Given the description of an element on the screen output the (x, y) to click on. 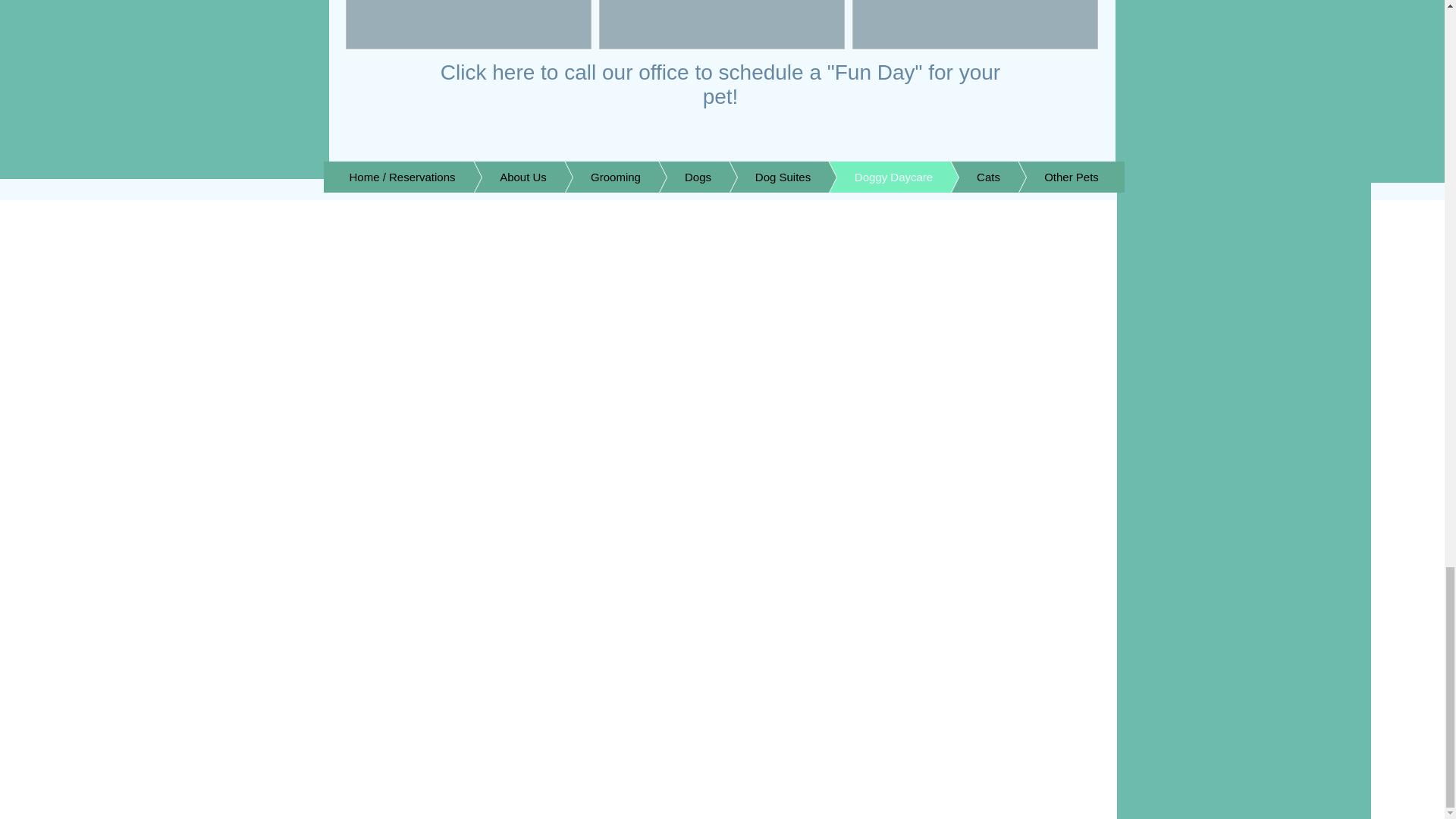
Dog Suites (759, 176)
Other Pets (1049, 176)
Doggy Daycare (871, 176)
Dogs (675, 176)
Cats (965, 176)
Grooming (592, 176)
About Us (500, 176)
